Given the description of an element on the screen output the (x, y) to click on. 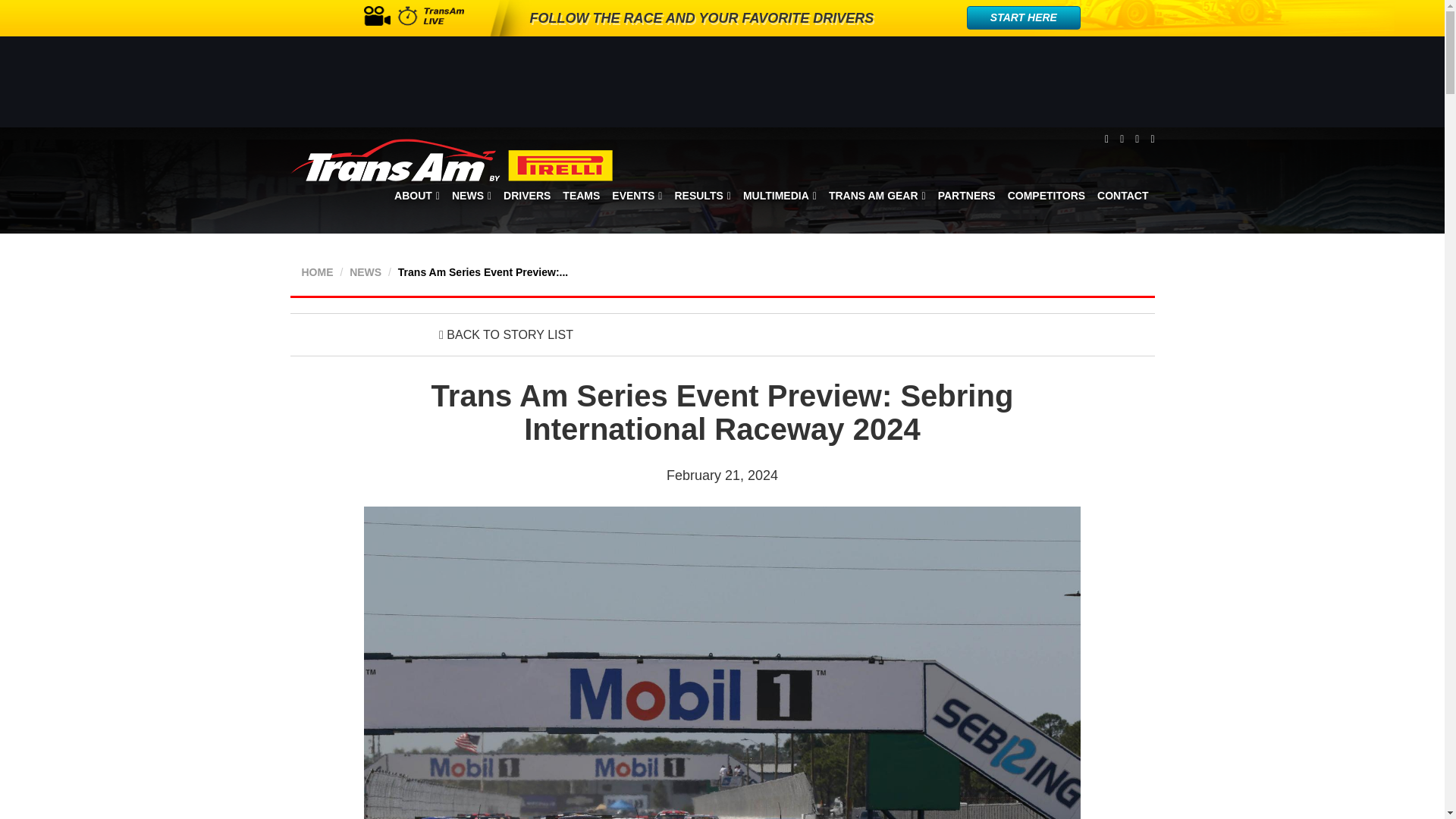
HOME (317, 272)
NEWS (365, 272)
Trans Am Series Event Preview:... (482, 272)
NEWS (471, 195)
ABOUT (416, 195)
CONTACT (1122, 195)
PARTNERS (966, 195)
TEAMS (580, 195)
START HERE (1023, 17)
BACK TO STORY LIST (506, 334)
TRANS AM GEAR (876, 195)
COMPETITORS (1045, 195)
3rd party ad content (734, 81)
EVENTS (636, 195)
RESULTS (702, 195)
